Given the description of an element on the screen output the (x, y) to click on. 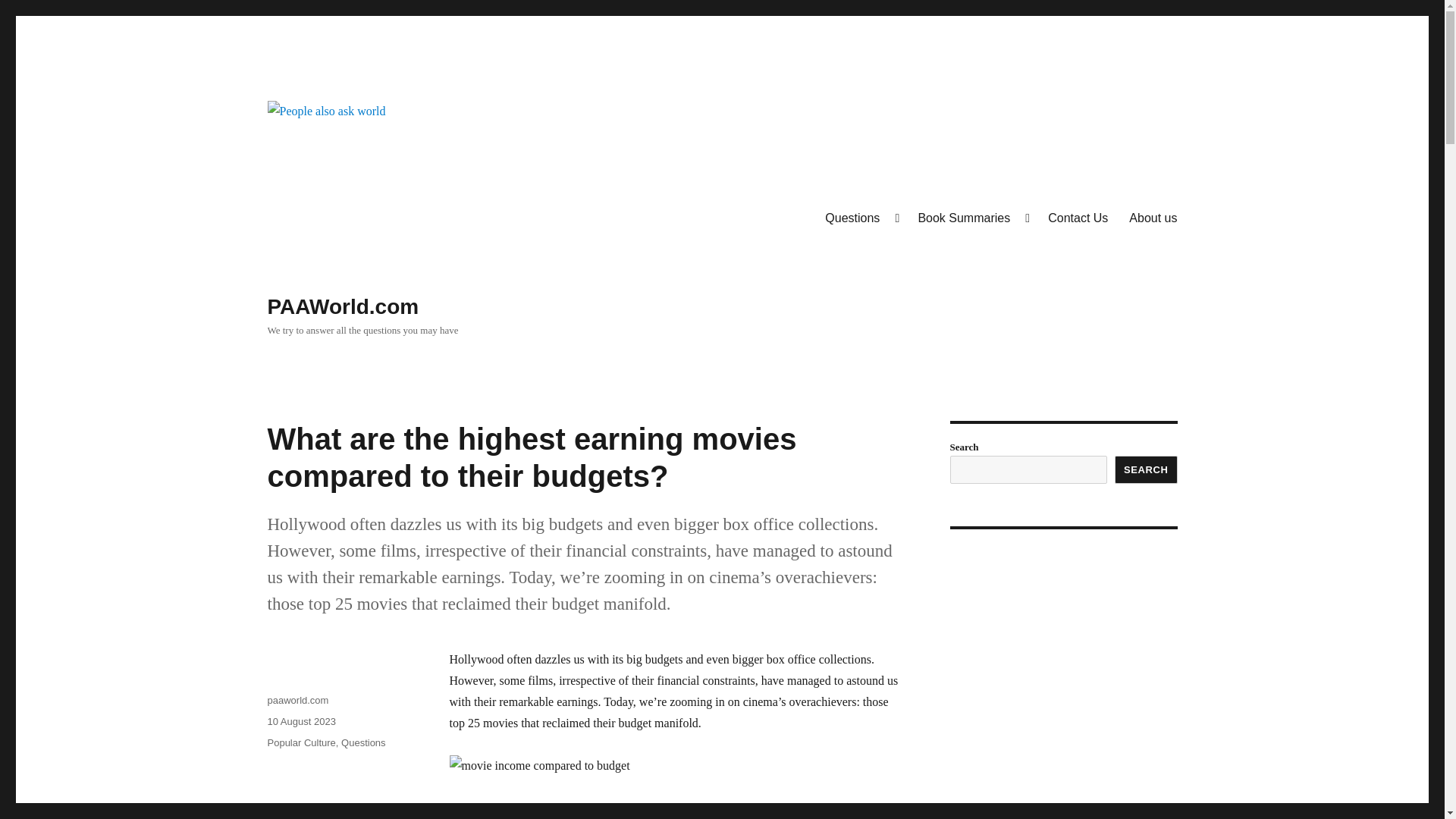
paaworld.com (297, 699)
Questions (362, 742)
Book Summaries (971, 218)
10 August 2023 (300, 721)
PAAWorld.com (342, 306)
Questions (860, 218)
About us (1153, 218)
Popular Culture (300, 742)
Contact Us (1077, 218)
